Given the description of an element on the screen output the (x, y) to click on. 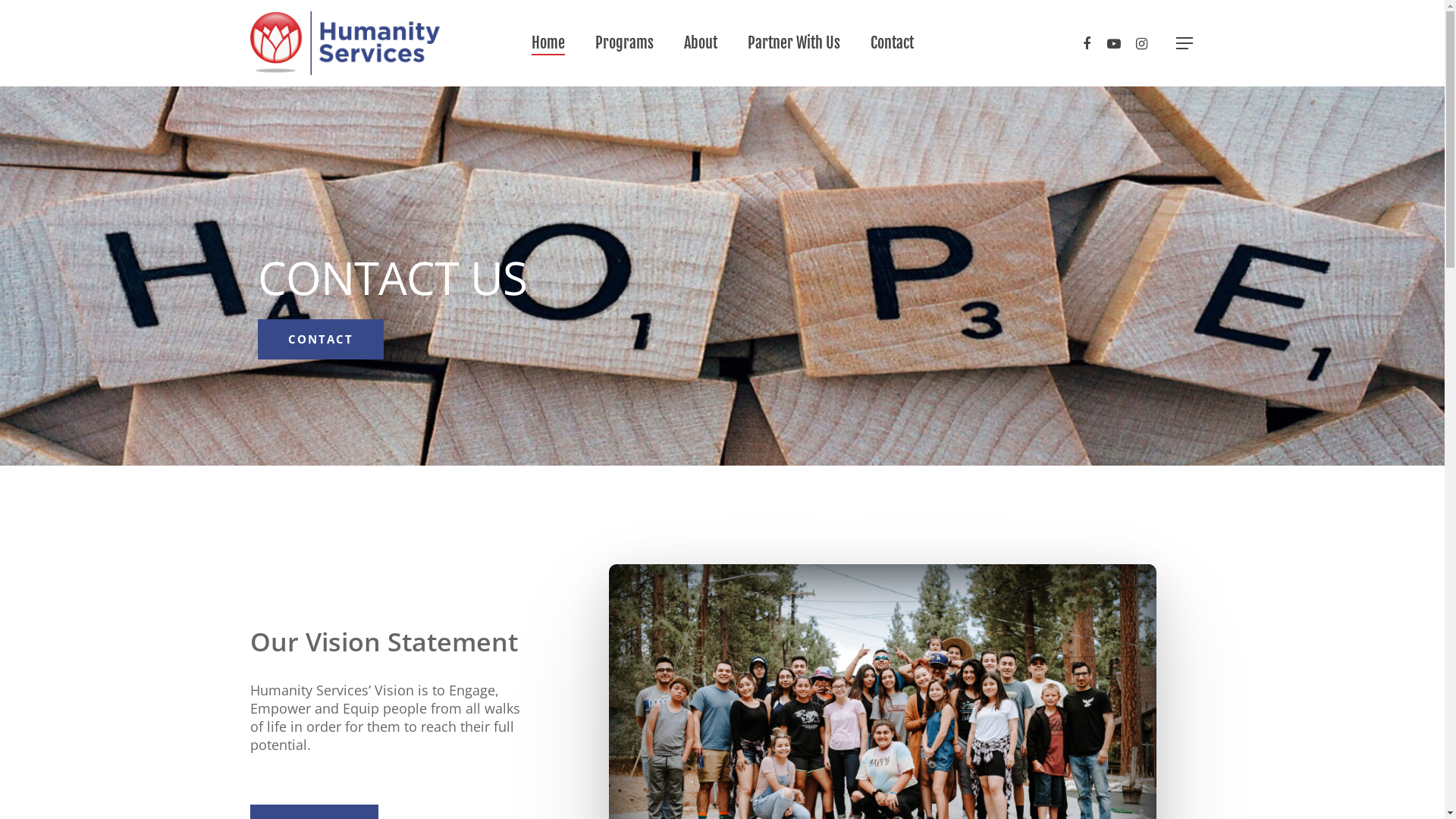
Programs Element type: text (623, 43)
Contact Element type: text (891, 43)
Home Element type: text (547, 43)
About Element type: text (700, 43)
Partner With Us Element type: text (793, 43)
CONTACT Element type: text (320, 339)
